Given the description of an element on the screen output the (x, y) to click on. 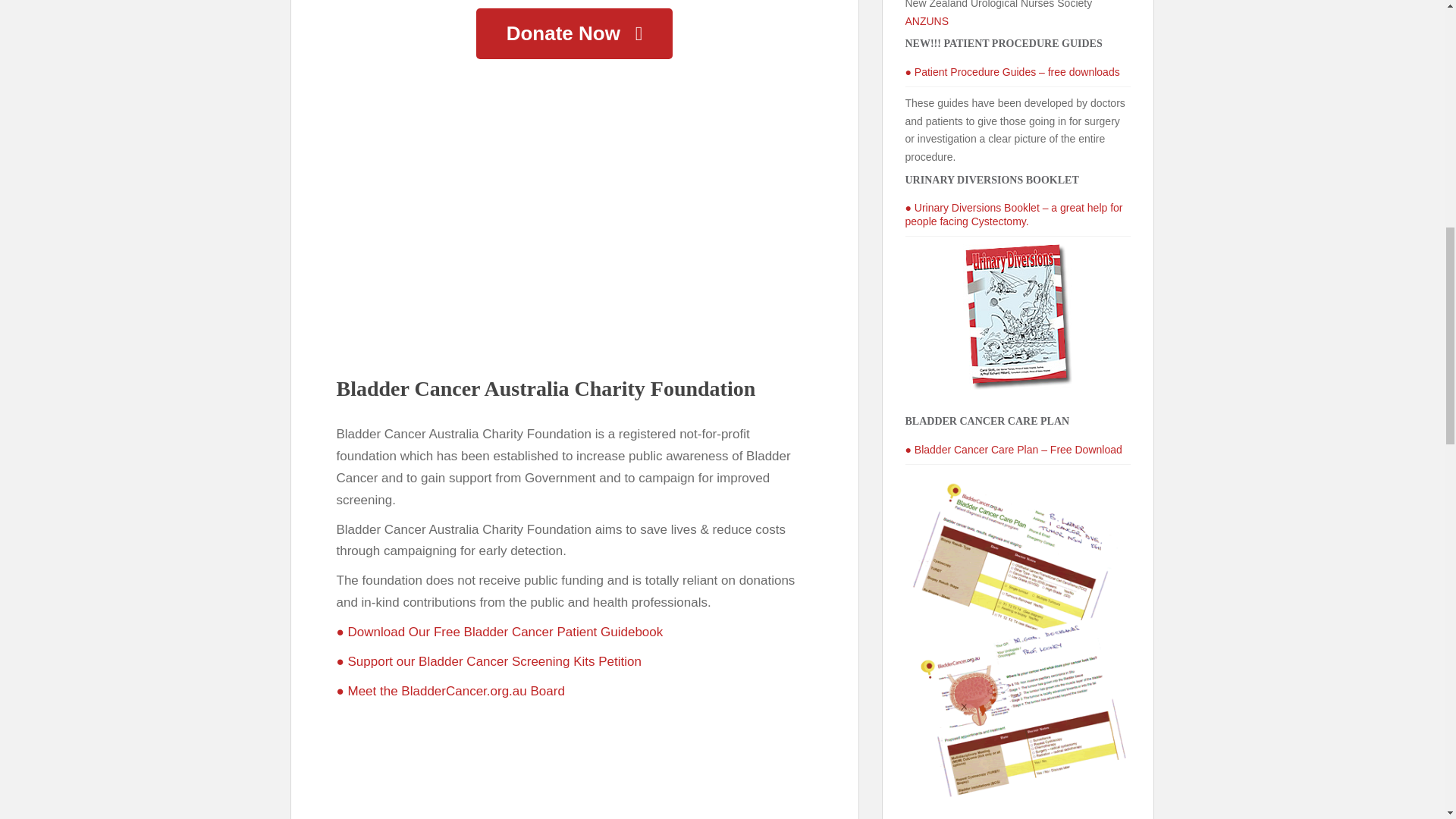
Donate Now (574, 33)
